Given the description of an element on the screen output the (x, y) to click on. 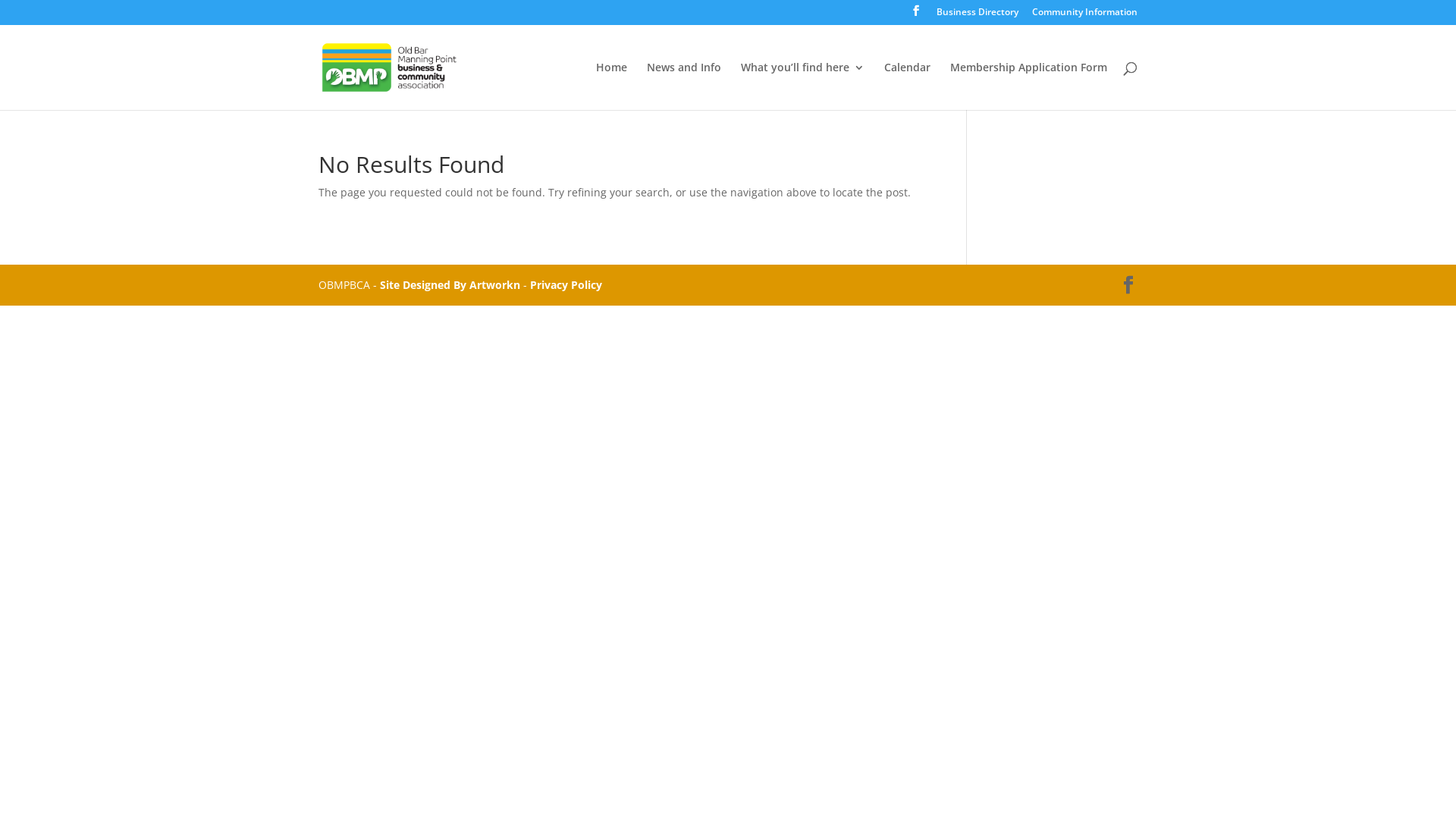
Membership Application Form Element type: text (1028, 85)
Business Directory Element type: text (977, 15)
Site Designed By Artworkn Element type: text (449, 284)
Community Information Element type: text (1084, 15)
Privacy Policy Element type: text (566, 284)
News and Info Element type: text (683, 85)
Home Element type: text (611, 85)
Calendar Element type: text (907, 85)
